Given the description of an element on the screen output the (x, y) to click on. 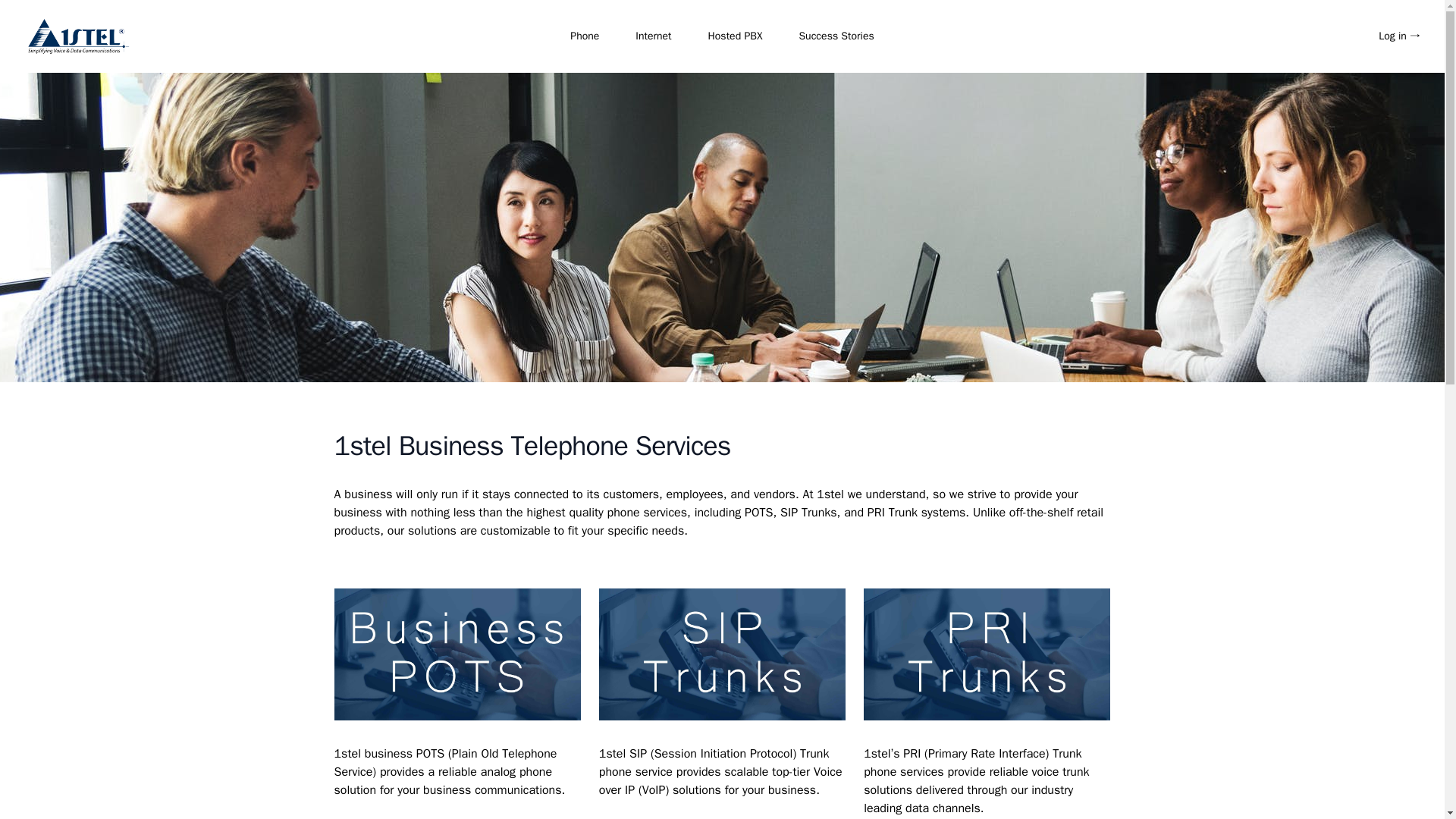
Phone (584, 36)
Internet (652, 36)
Success Stories (835, 36)
Hosted PBX (734, 36)
1stel (79, 35)
